Given the description of an element on the screen output the (x, y) to click on. 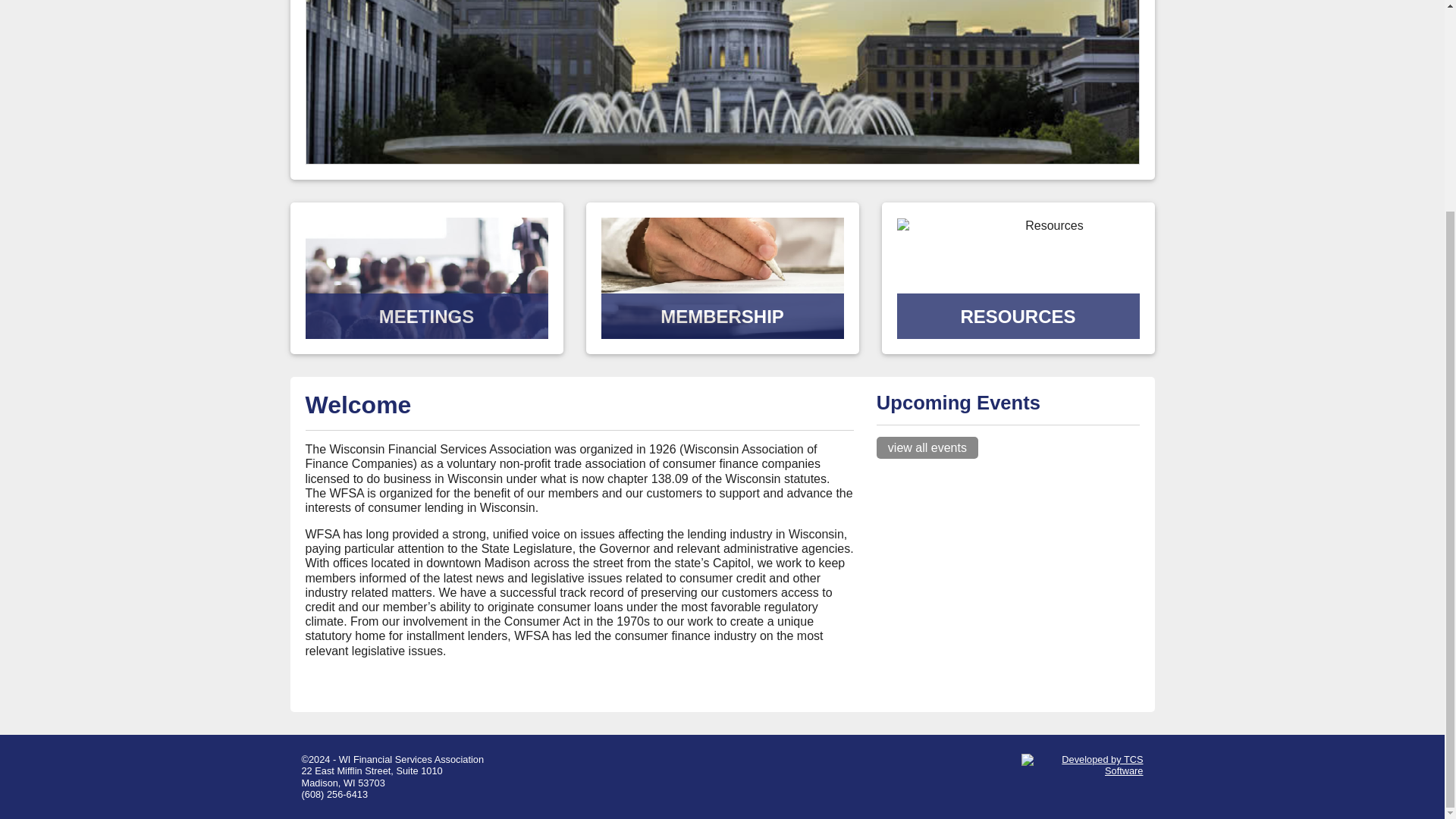
more information (1017, 324)
more information (425, 324)
view all events (927, 447)
more information (721, 324)
